Given the description of an element on the screen output the (x, y) to click on. 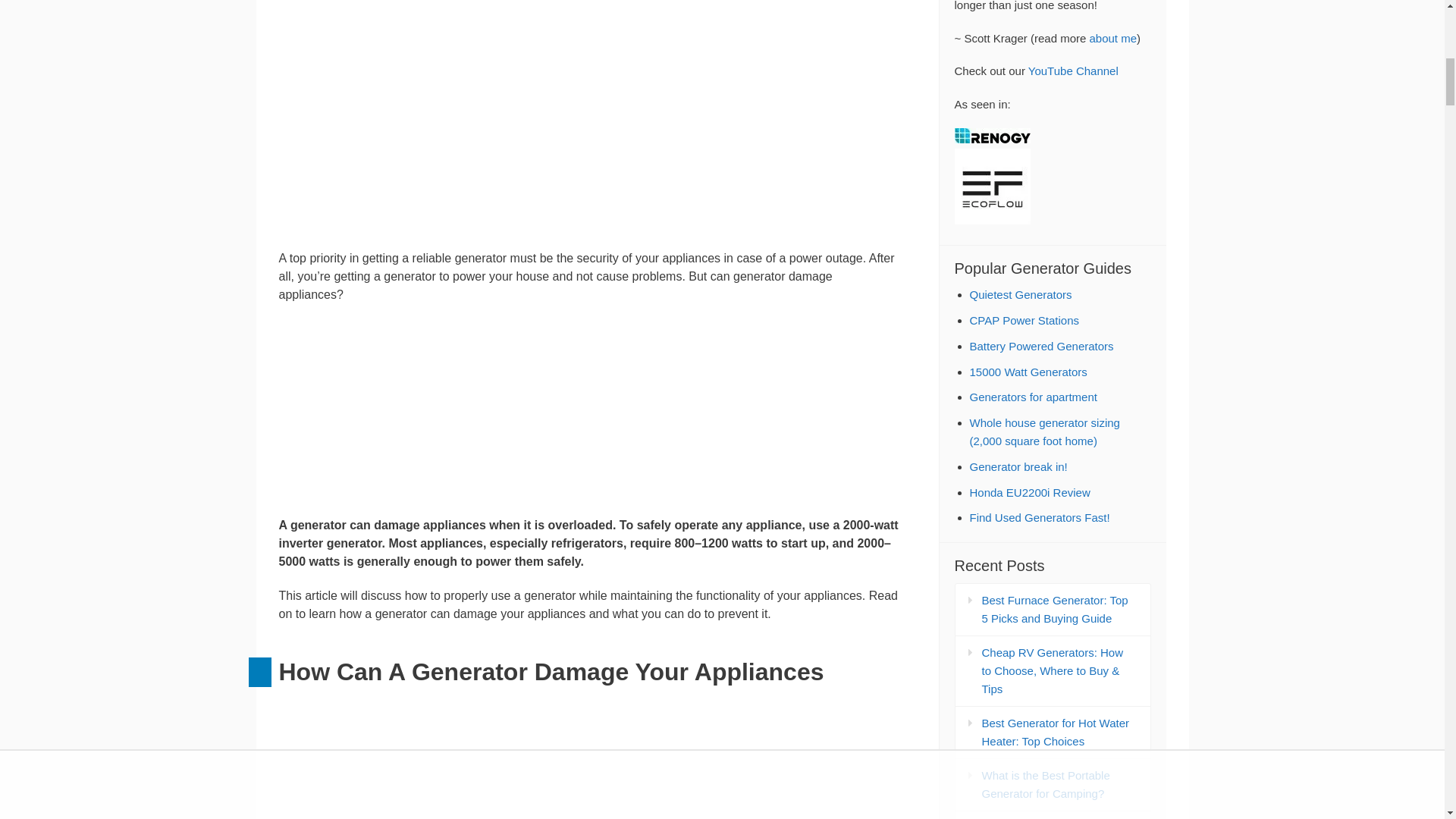
Whole house generator sizing (1044, 431)
Generators for apartment (1032, 396)
Honda EU2200i Review (1029, 492)
Find used generators (1039, 517)
Generator break in (1018, 466)
